Given the description of an element on the screen output the (x, y) to click on. 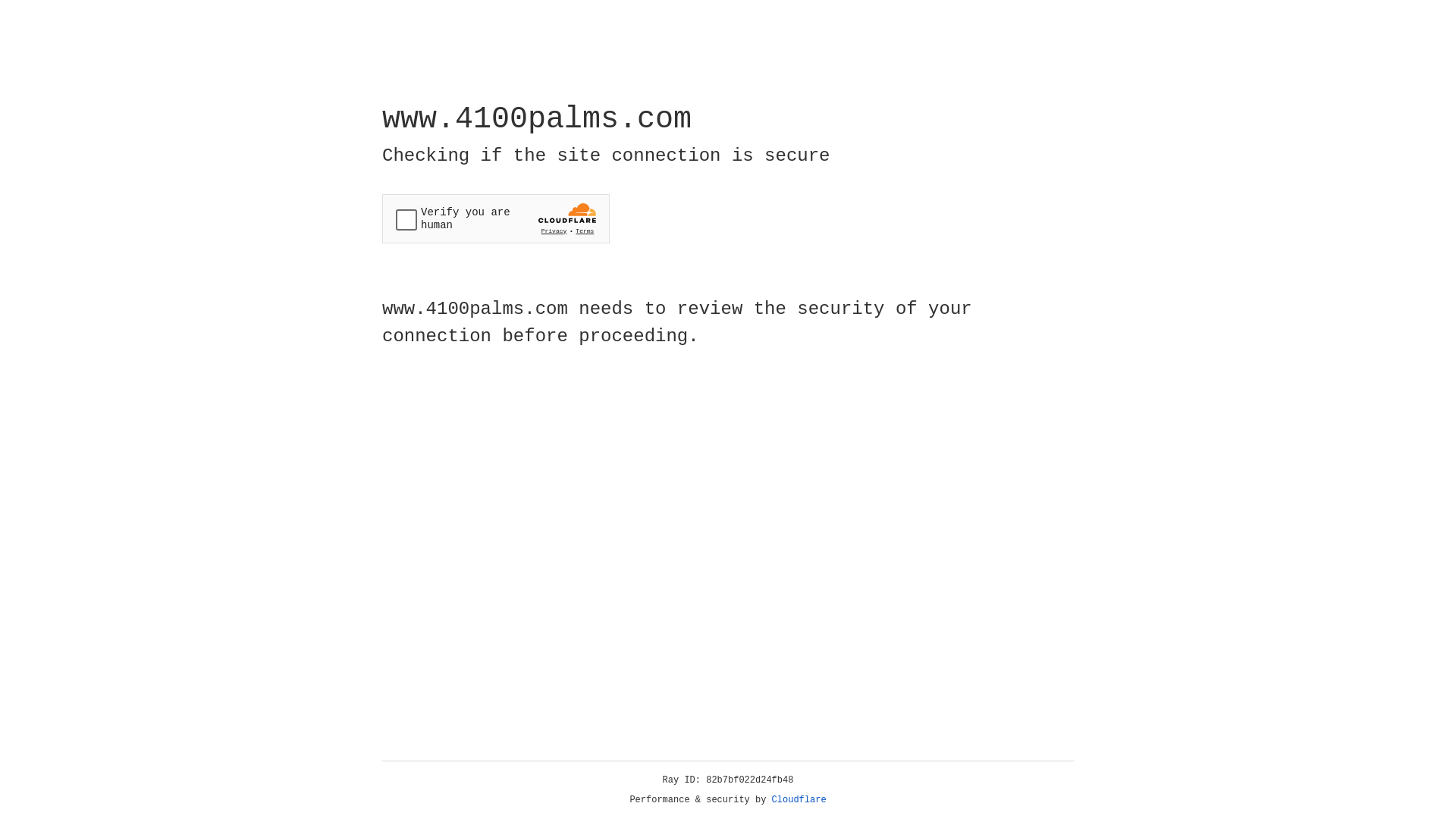
Cloudflare Element type: text (798, 799)
Widget containing a Cloudflare security challenge Element type: hover (495, 218)
